Given the description of an element on the screen output the (x, y) to click on. 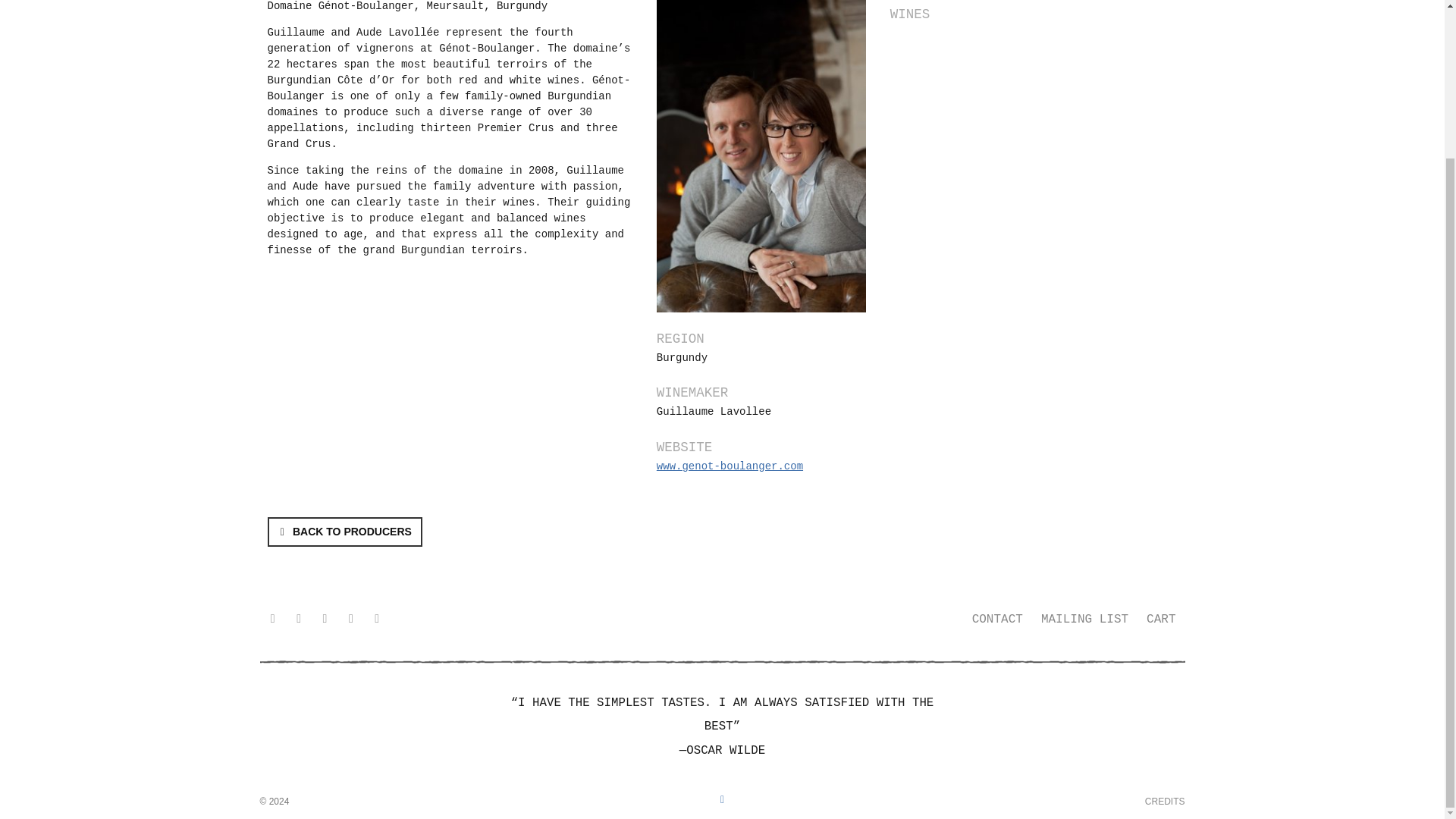
MAILING LIST (1084, 619)
CONTACT (996, 619)
BACK TO PRODUCERS (344, 531)
CART (1160, 619)
www.genot-boulanger.com (729, 466)
